Given the description of an element on the screen output the (x, y) to click on. 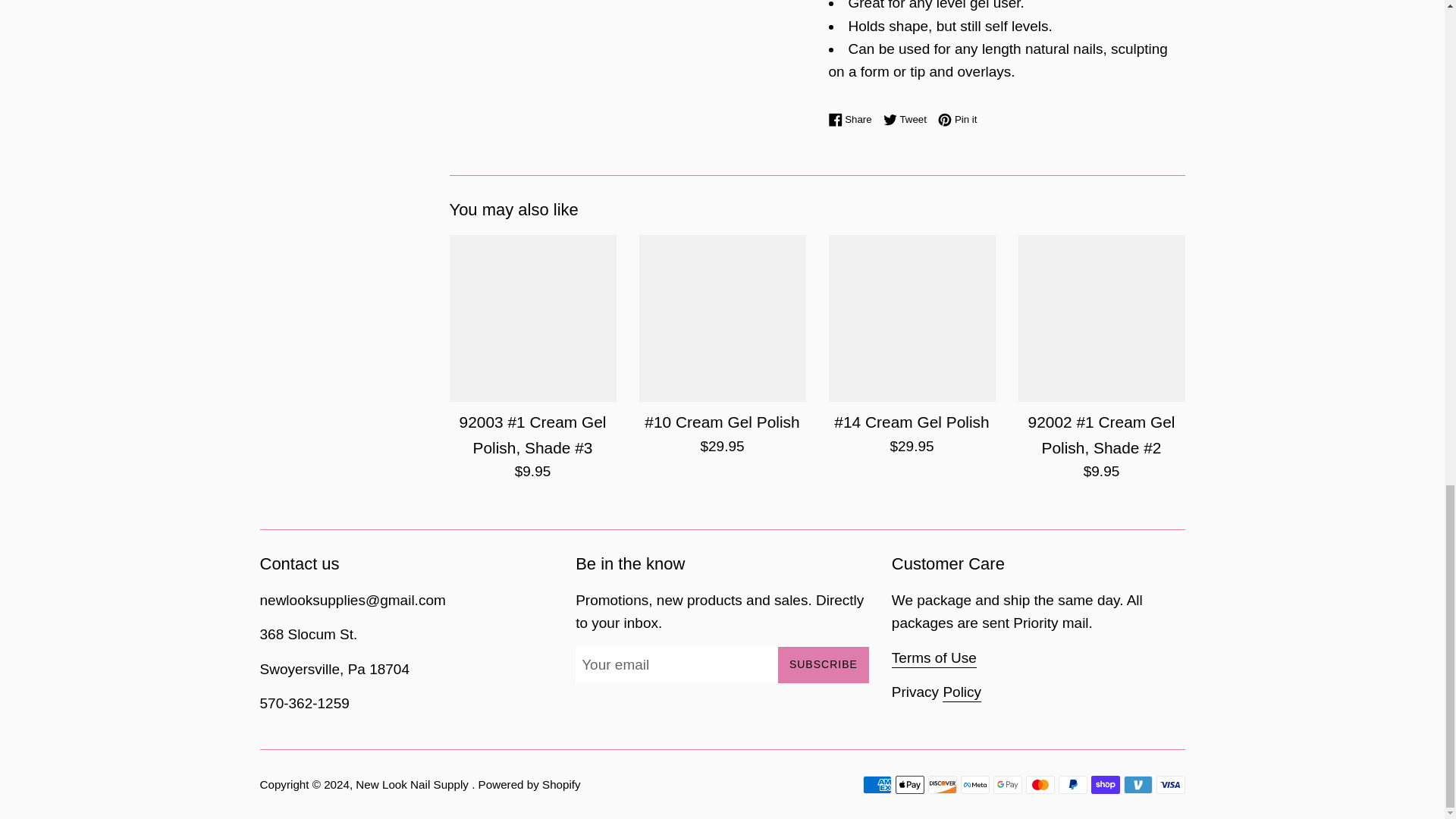
Policy (961, 692)
Share on Facebook (956, 119)
Visa (908, 119)
Google Pay (853, 119)
SUBSCRIBE (1170, 784)
Venmo (1007, 784)
Shop Pay (823, 665)
Tweet on Twitter (1138, 784)
